Given the description of an element on the screen output the (x, y) to click on. 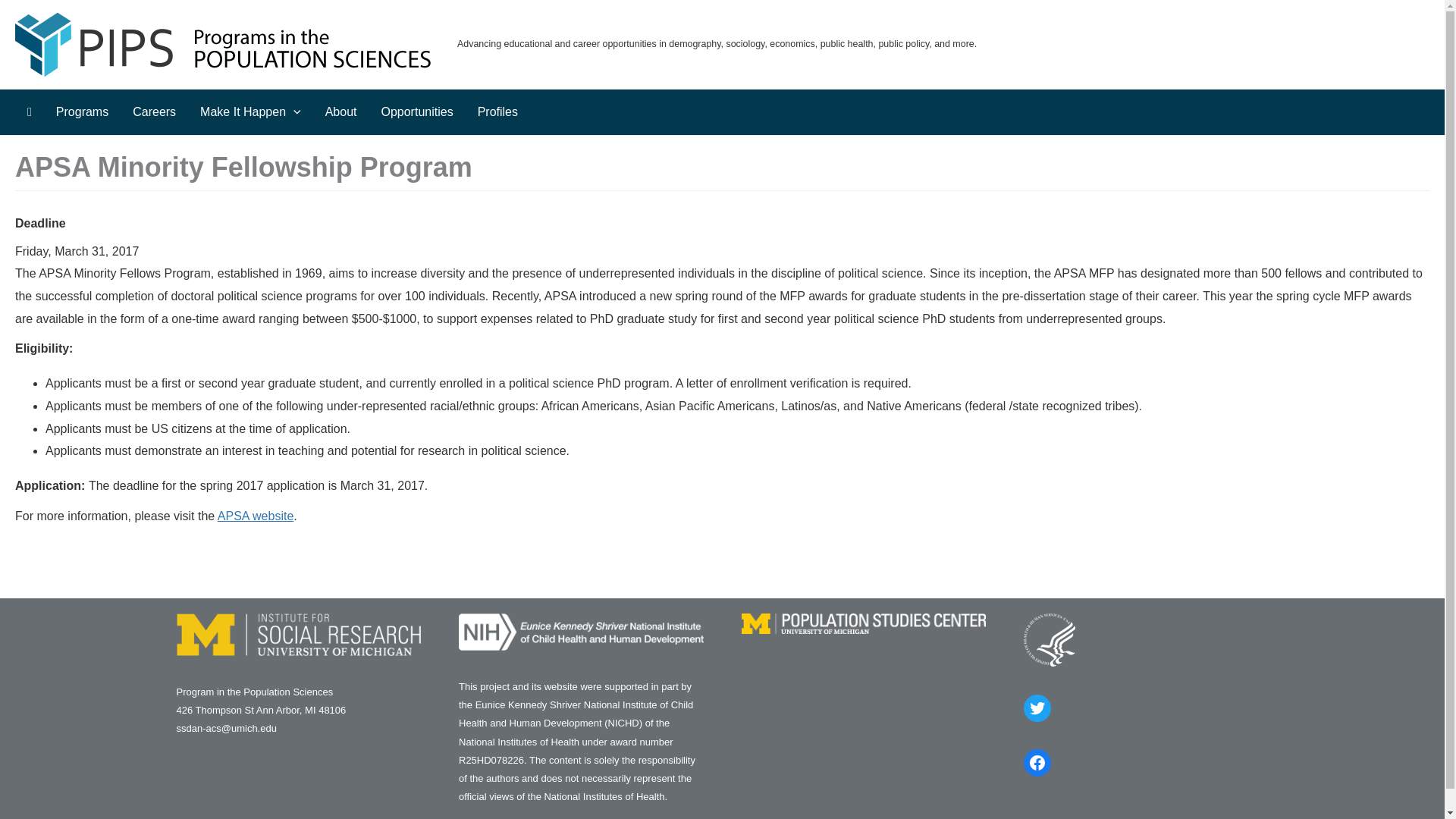
Careers (153, 112)
APSA website (255, 515)
Twitter (1037, 707)
Programs (81, 112)
Make It Happen (250, 112)
Facebook (1037, 762)
Profiles (497, 112)
About (341, 112)
Opportunities (416, 112)
